Given the description of an element on the screen output the (x, y) to click on. 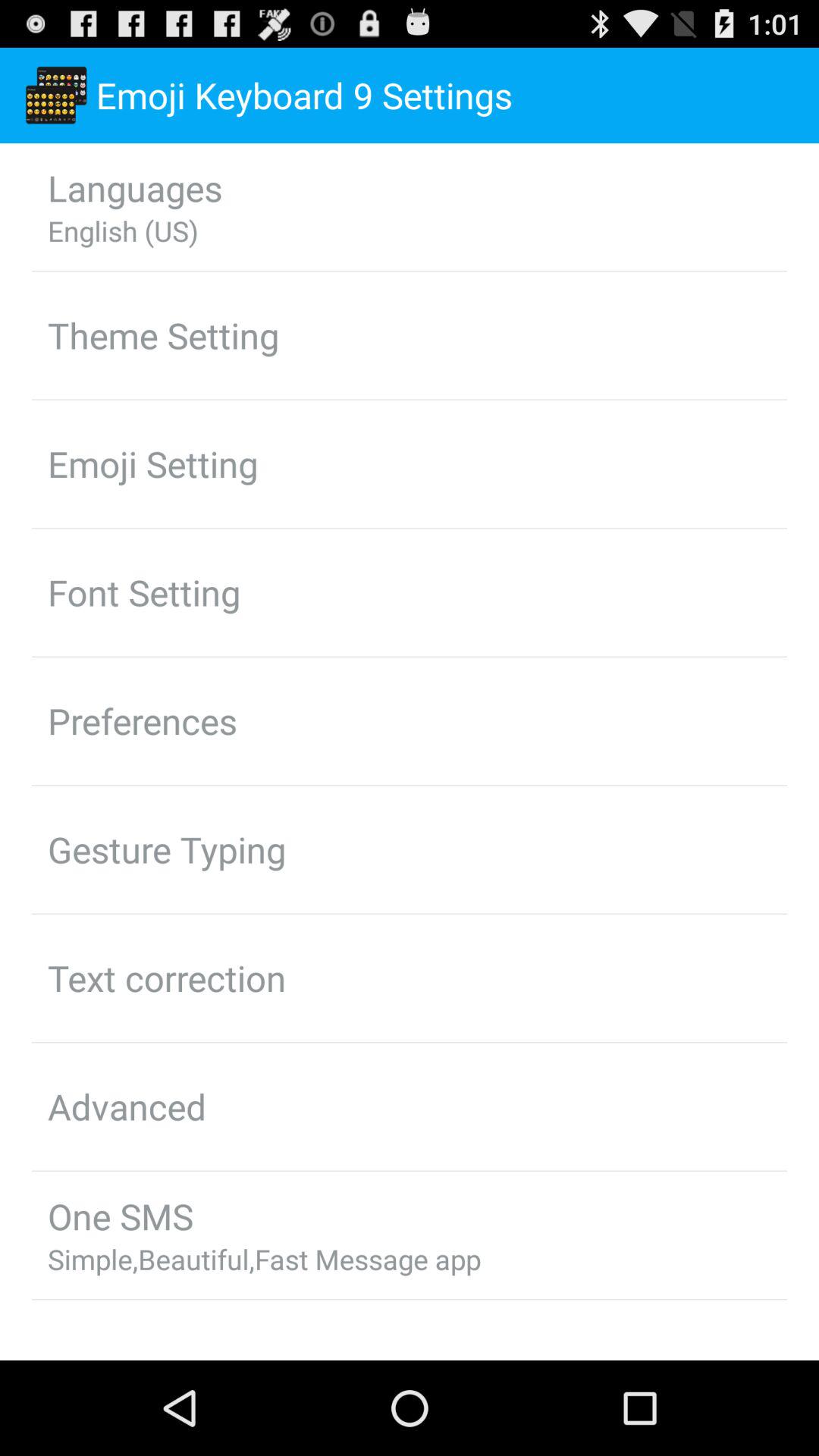
select the app above english (us) icon (134, 187)
